Given the description of an element on the screen output the (x, y) to click on. 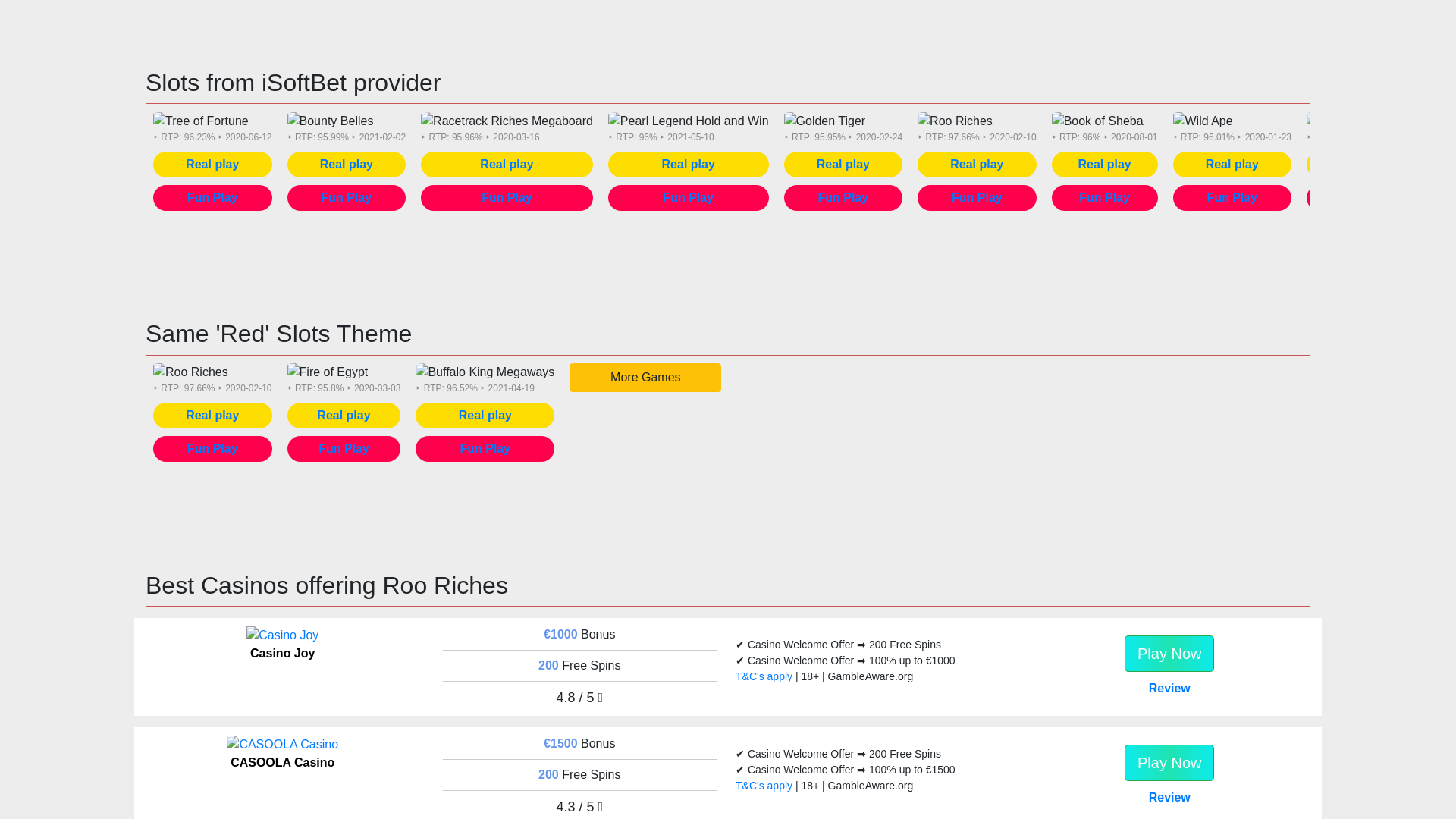
Wild Ape (1201, 121)
Golden Tiger (825, 121)
Roo Riches (954, 121)
Bounty Belles (330, 121)
Tree of Fortune (200, 121)
Pearl Legend Hold and Win (688, 121)
Racetrack Riches Megaboard (506, 121)
The King (1336, 121)
YouTube video player (727, 19)
Book of Sheba (1096, 121)
